Given the description of an element on the screen output the (x, y) to click on. 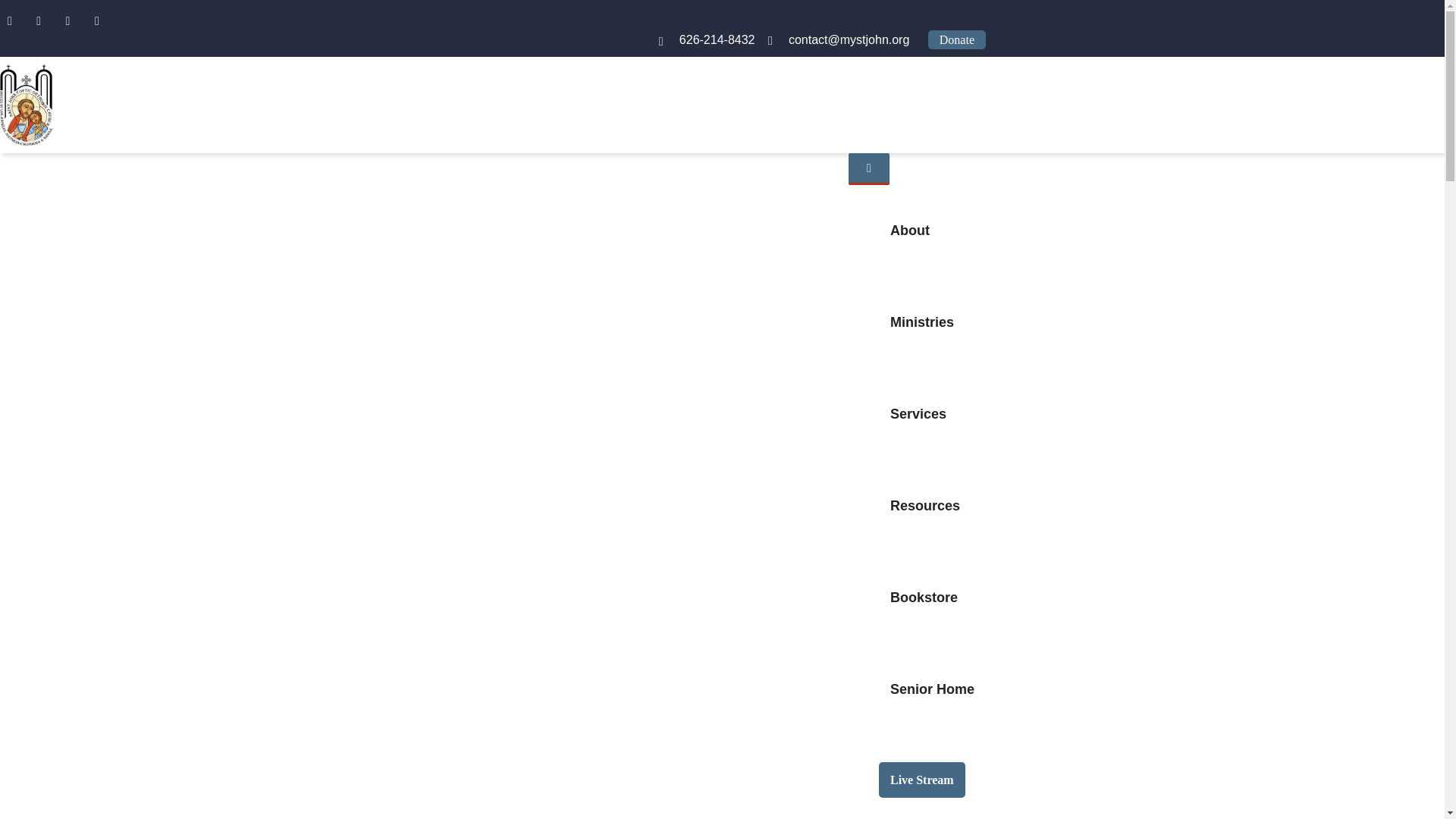
626-214-8432 (716, 39)
Donate (956, 39)
About (909, 230)
Ministries (922, 322)
